Given the description of an element on the screen output the (x, y) to click on. 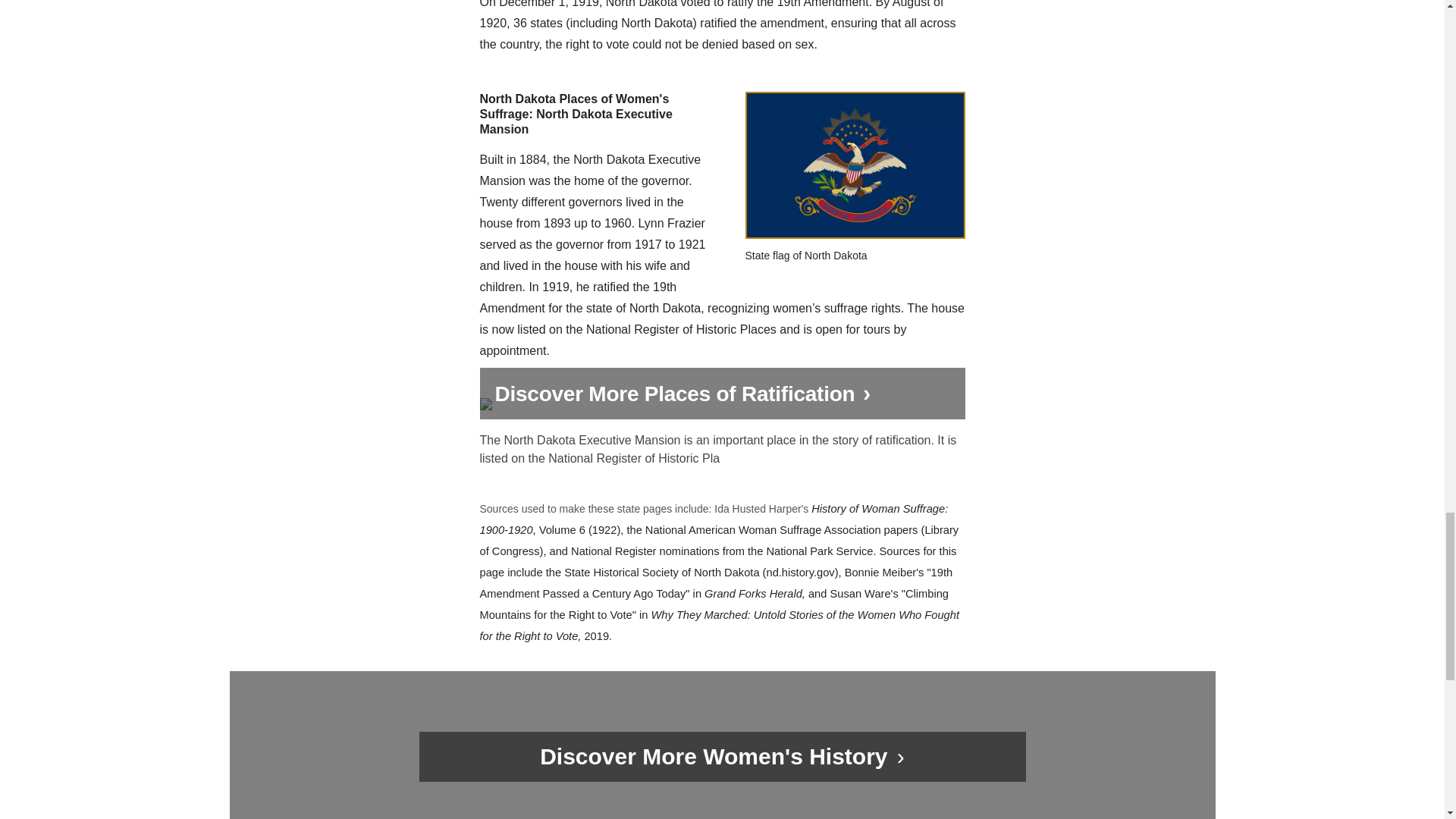
north dakota flag (853, 165)
Discover More Places of Ratification (721, 408)
Discover More Women's History (716, 756)
